Given the description of an element on the screen output the (x, y) to click on. 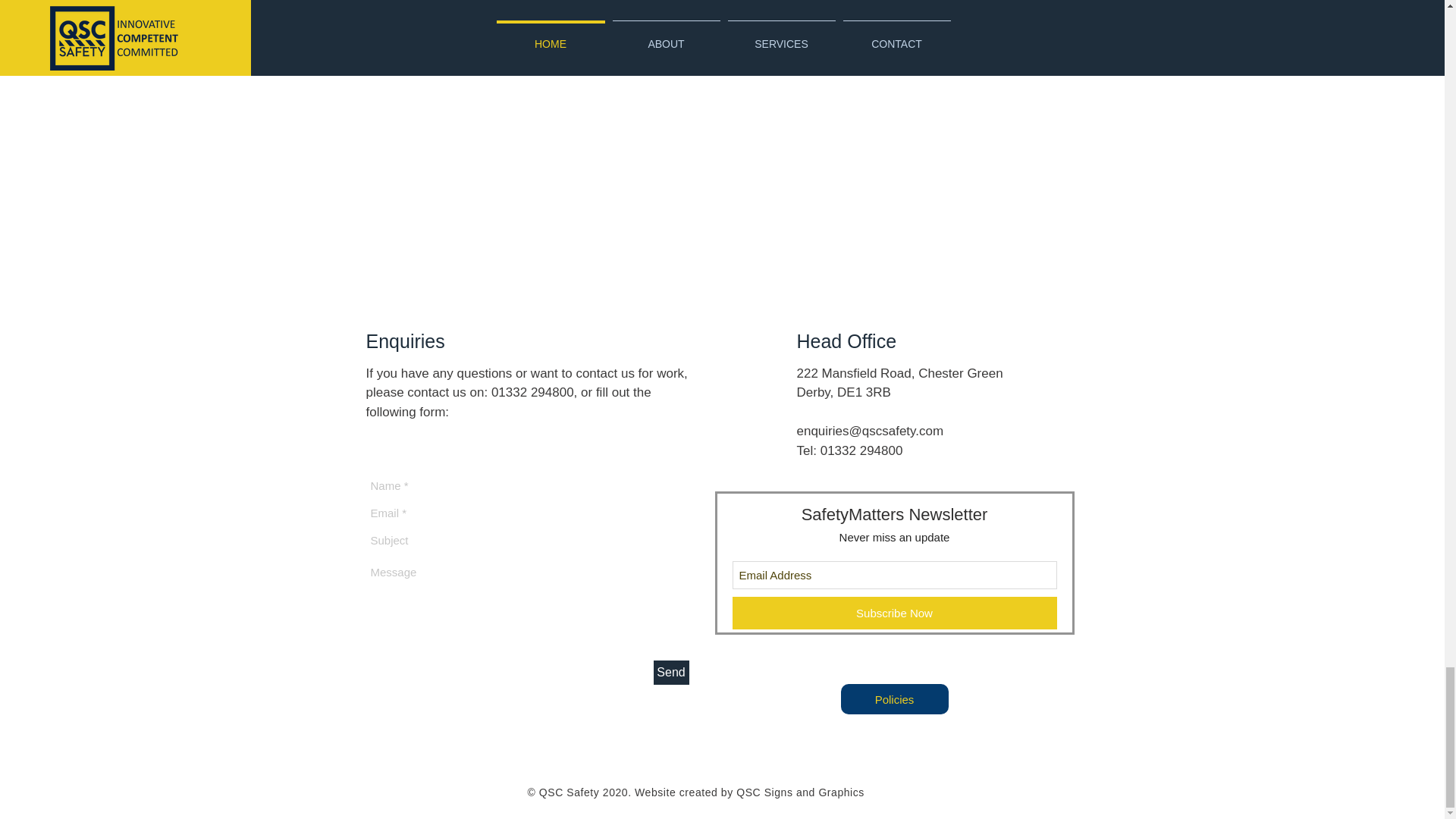
Subscribe Now (894, 613)
Policies (893, 698)
Send (670, 672)
